Given the description of an element on the screen output the (x, y) to click on. 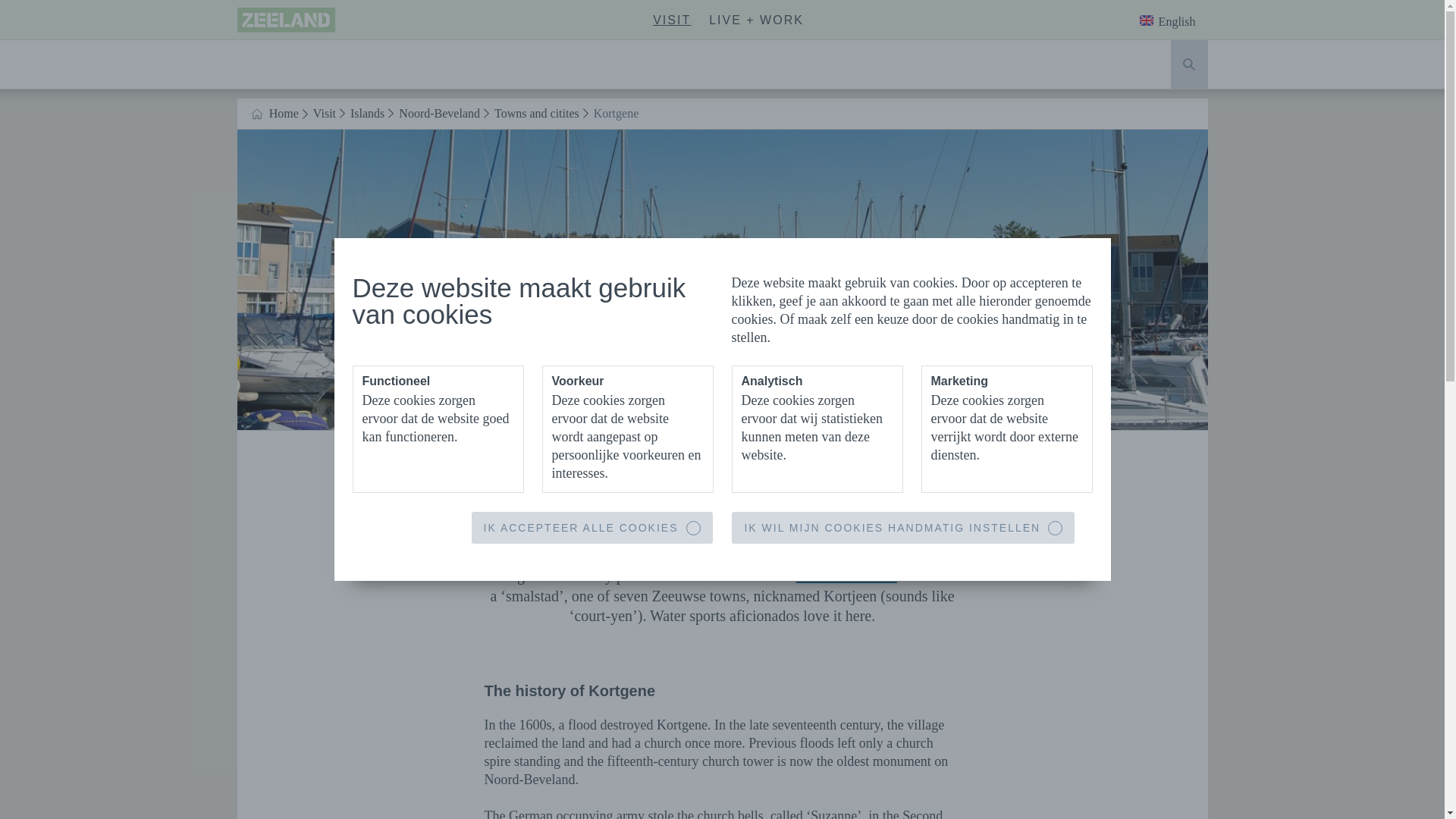
Zeeland.com (284, 19)
Naar hoofdinhoud (284, 22)
IK ACCEPTEER ALLE COOKIES (671, 20)
IK WIL MIJN COOKIES HANDMATIG INSTELLEN (591, 527)
English (902, 527)
